Given the description of an element on the screen output the (x, y) to click on. 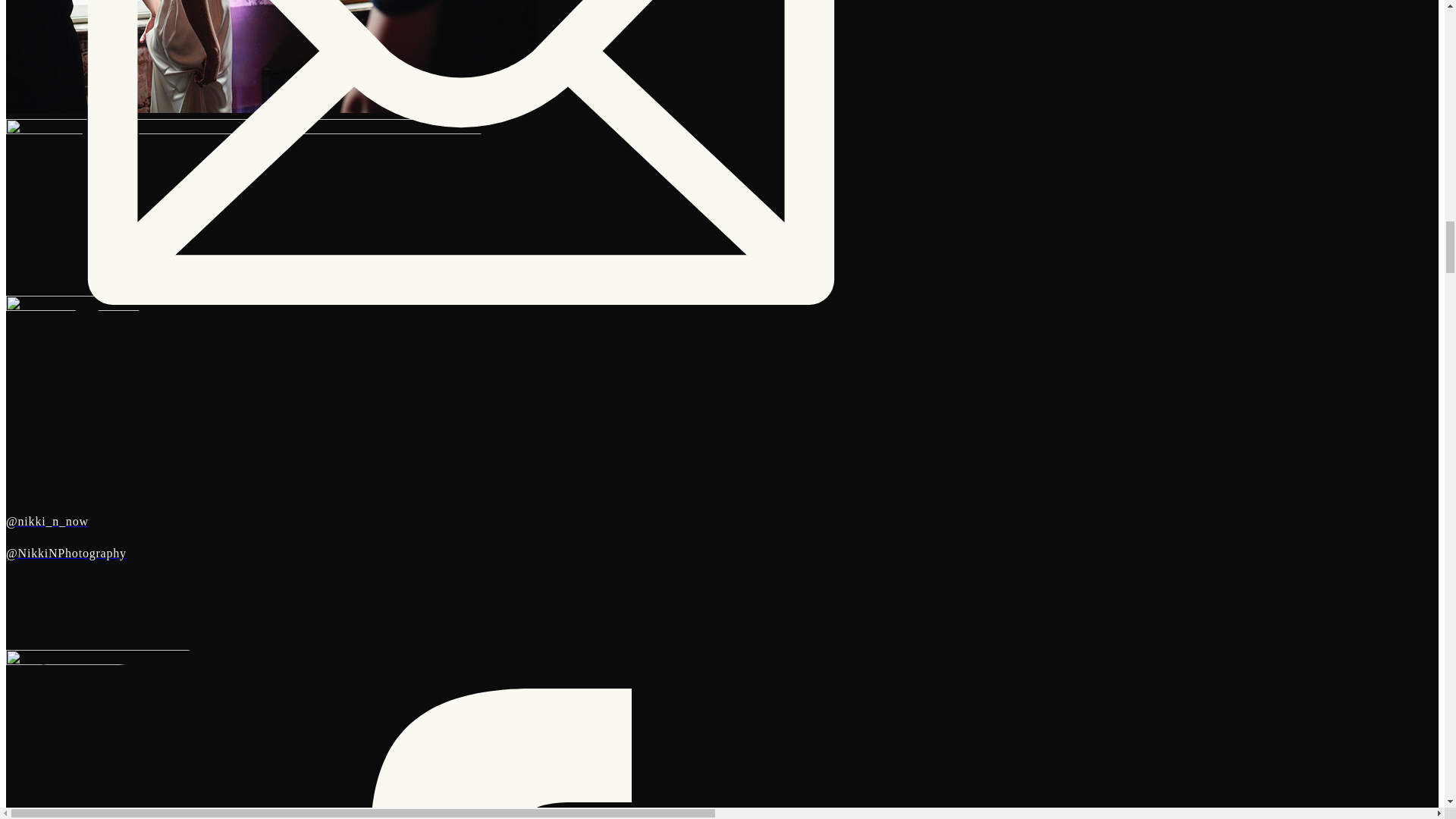
037 (271, 206)
023 (271, 56)
140 (271, 734)
